Given the description of an element on the screen output the (x, y) to click on. 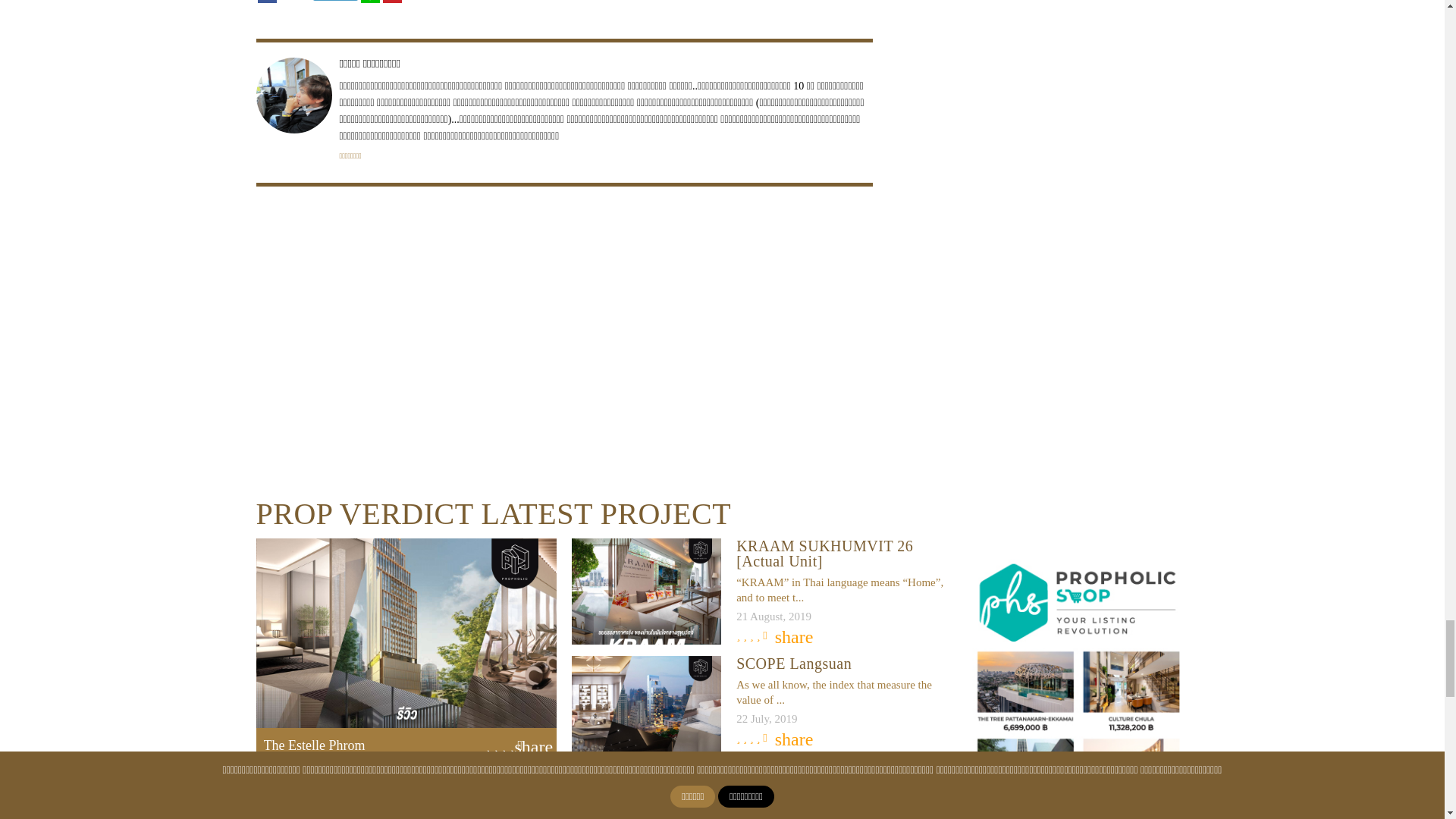
Line (370, 1)
Facebook (266, 1)
Pinterest (391, 1)
